Given the description of an element on the screen output the (x, y) to click on. 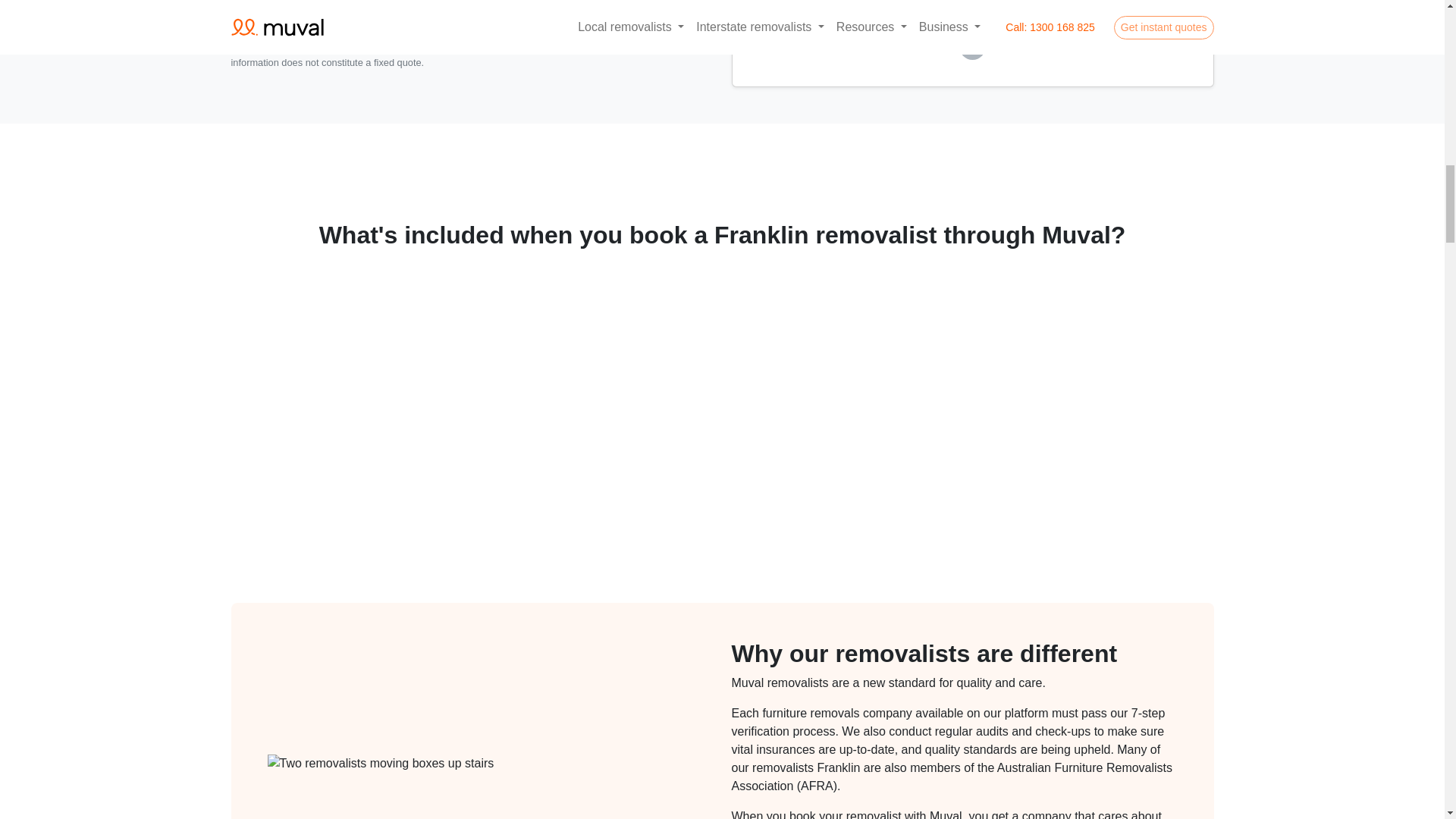
2 (972, 47)
